Given the description of an element on the screen output the (x, y) to click on. 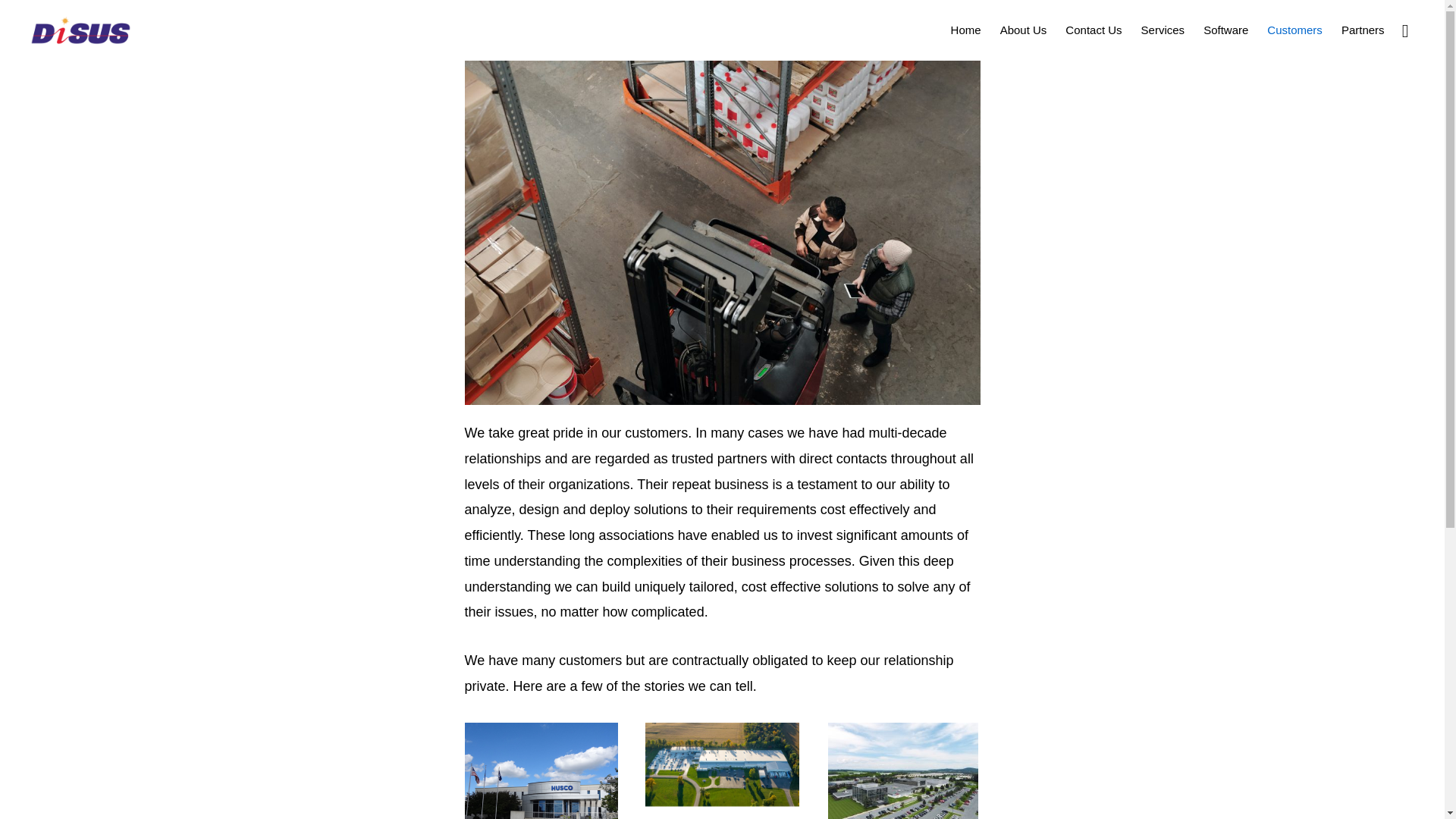
Services (1163, 29)
Partners (1362, 29)
Powered by TurnKey Linux (788, 784)
Contact Us (1093, 29)
Software (1225, 29)
Customers (1294, 29)
About Us (1023, 29)
Home (965, 29)
